Given the description of an element on the screen output the (x, y) to click on. 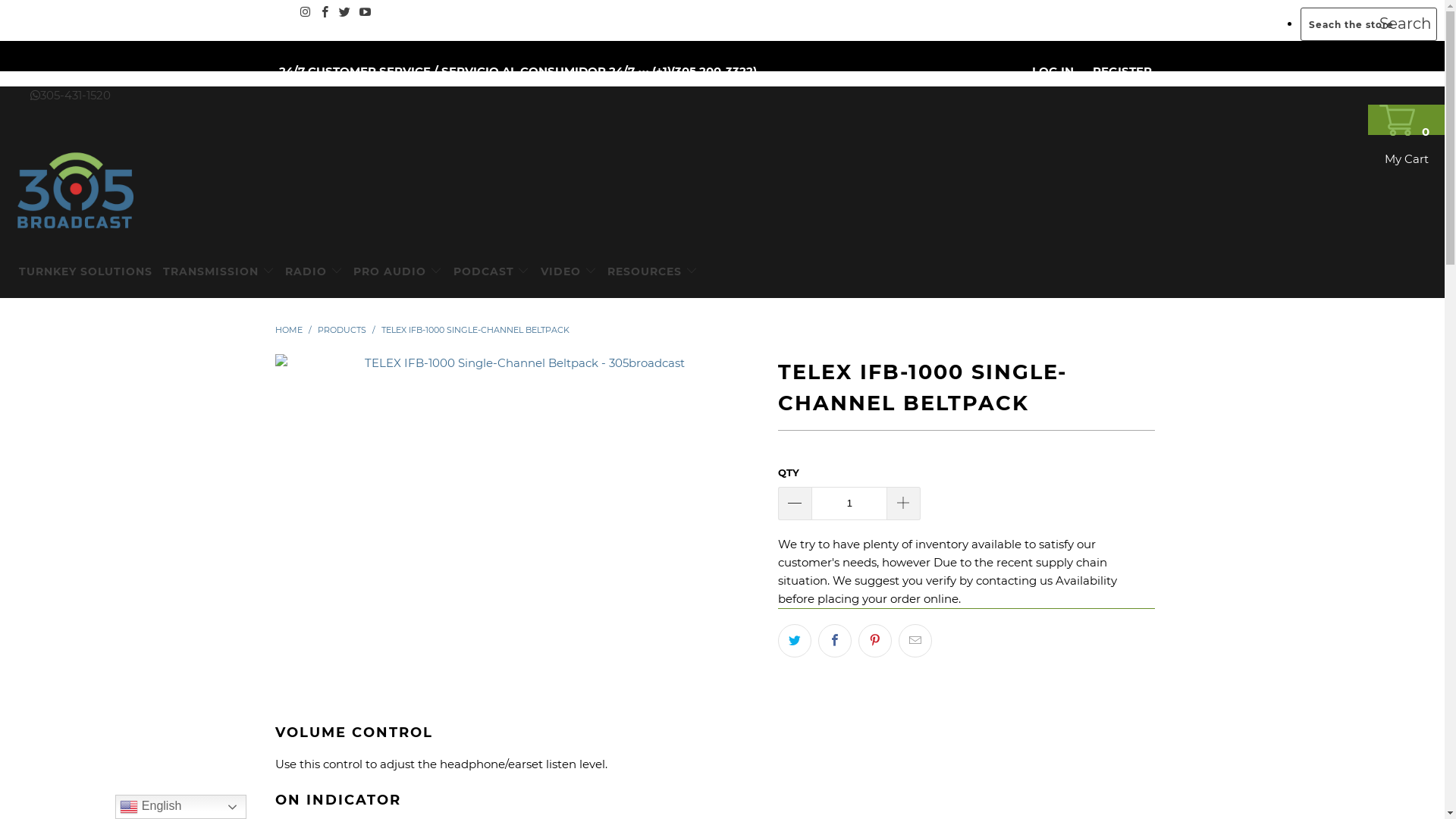
(305 200-3322) Element type: text (713, 71)
Share this on Facebook Element type: hover (834, 640)
RADIO Element type: text (313, 271)
305broadcast Element type: hover (729, 189)
Email this to a friend Element type: hover (914, 640)
TRANSMISSION Element type: text (218, 271)
305broadcast on YouTube Element type: hover (364, 12)
LOG IN Element type: text (1052, 71)
TELEX IFB-1000 SINGLE-CHANNEL BELTPACK Element type: text (474, 329)
PODCAST Element type: text (491, 271)
PRO AUDIO Element type: text (397, 271)
305broadcast on Twitter Element type: hover (344, 12)
HOME Element type: text (287, 329)
Share this on Pinterest Element type: hover (874, 640)
PRODUCTS Element type: text (340, 329)
REGISTER Element type: text (1121, 71)
305-431-1520 Element type: text (70, 94)
0
My Cart Element type: text (1406, 119)
305broadcast on Instagram Element type: hover (304, 12)
VIDEO Element type: text (568, 271)
305broadcast on Facebook Element type: hover (324, 12)
RESOURCES Element type: text (652, 271)
TURNKEY SOLUTIONS Element type: text (85, 271)
Share this on Twitter Element type: hover (794, 640)
